Given the description of an element on the screen output the (x, y) to click on. 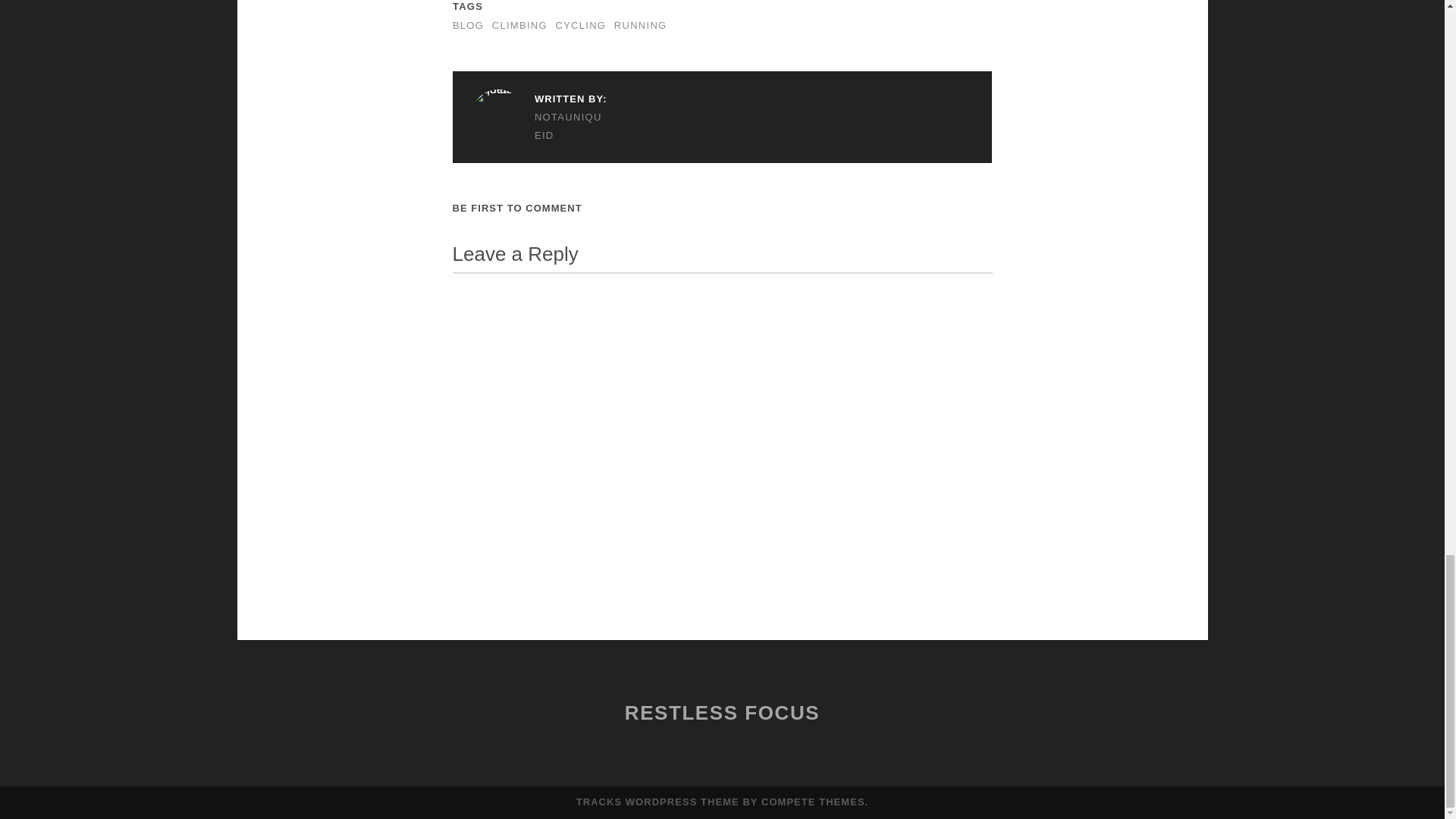
Posts by notauniqueid (538, 126)
TRACKS WORDPRESS THEME (657, 801)
View all posts tagged Running (640, 25)
CYCLING (579, 25)
RESTLESS FOCUS (721, 712)
View all posts tagged blog (467, 25)
BLOG (467, 25)
RUNNING (640, 25)
View all posts tagged Cycling (579, 25)
CLIMBING (519, 25)
View all posts tagged climbing (519, 25)
NOTAUNIQUEID (538, 126)
